Given the description of an element on the screen output the (x, y) to click on. 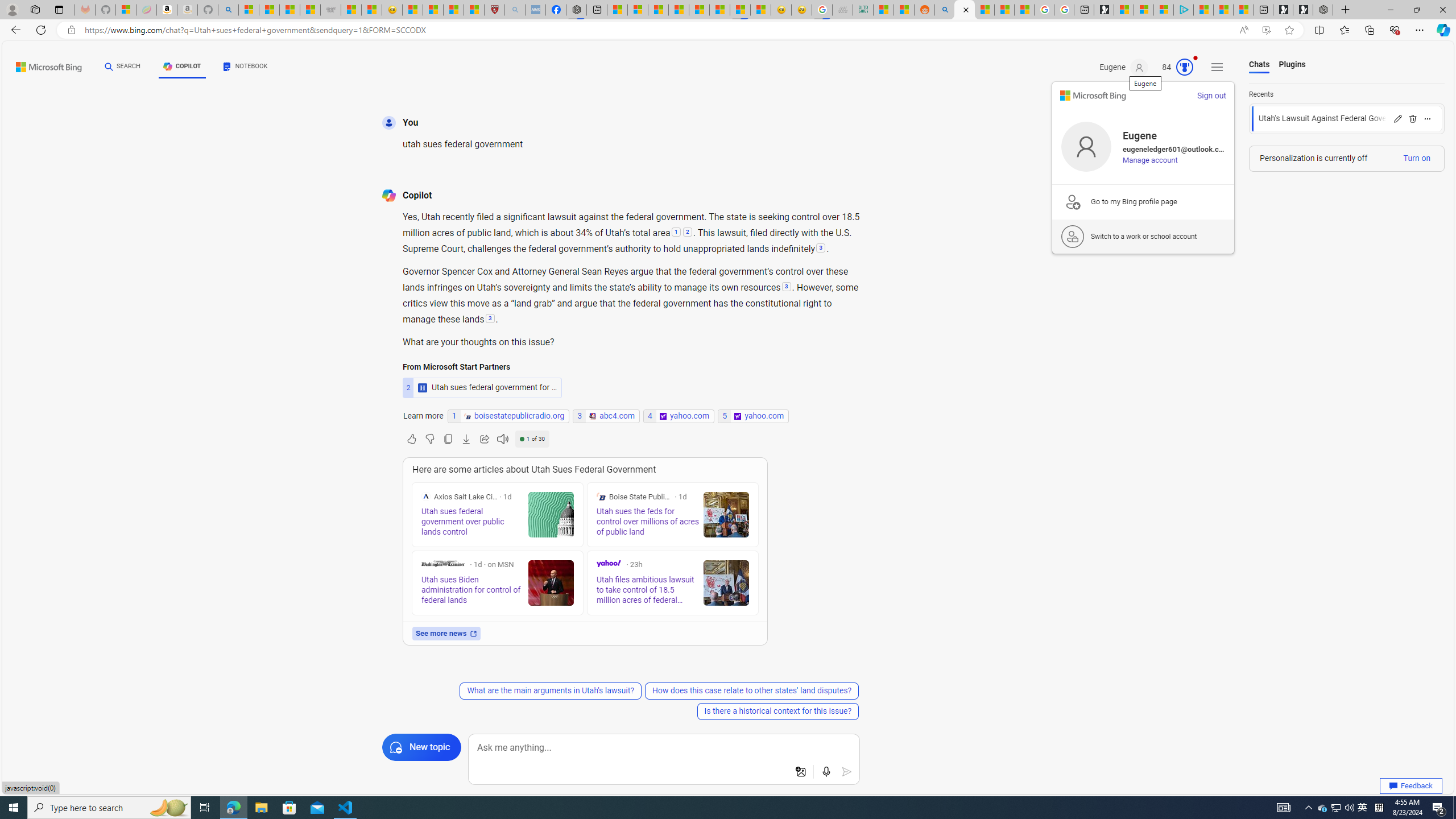
work signin Switch to a work or school account (1143, 236)
2:  (687, 232)
1:  (675, 232)
Animation (1195, 57)
NOTEBOOK (245, 68)
Copy (448, 438)
Switch to a work or school account (1143, 235)
